Given the description of an element on the screen output the (x, y) to click on. 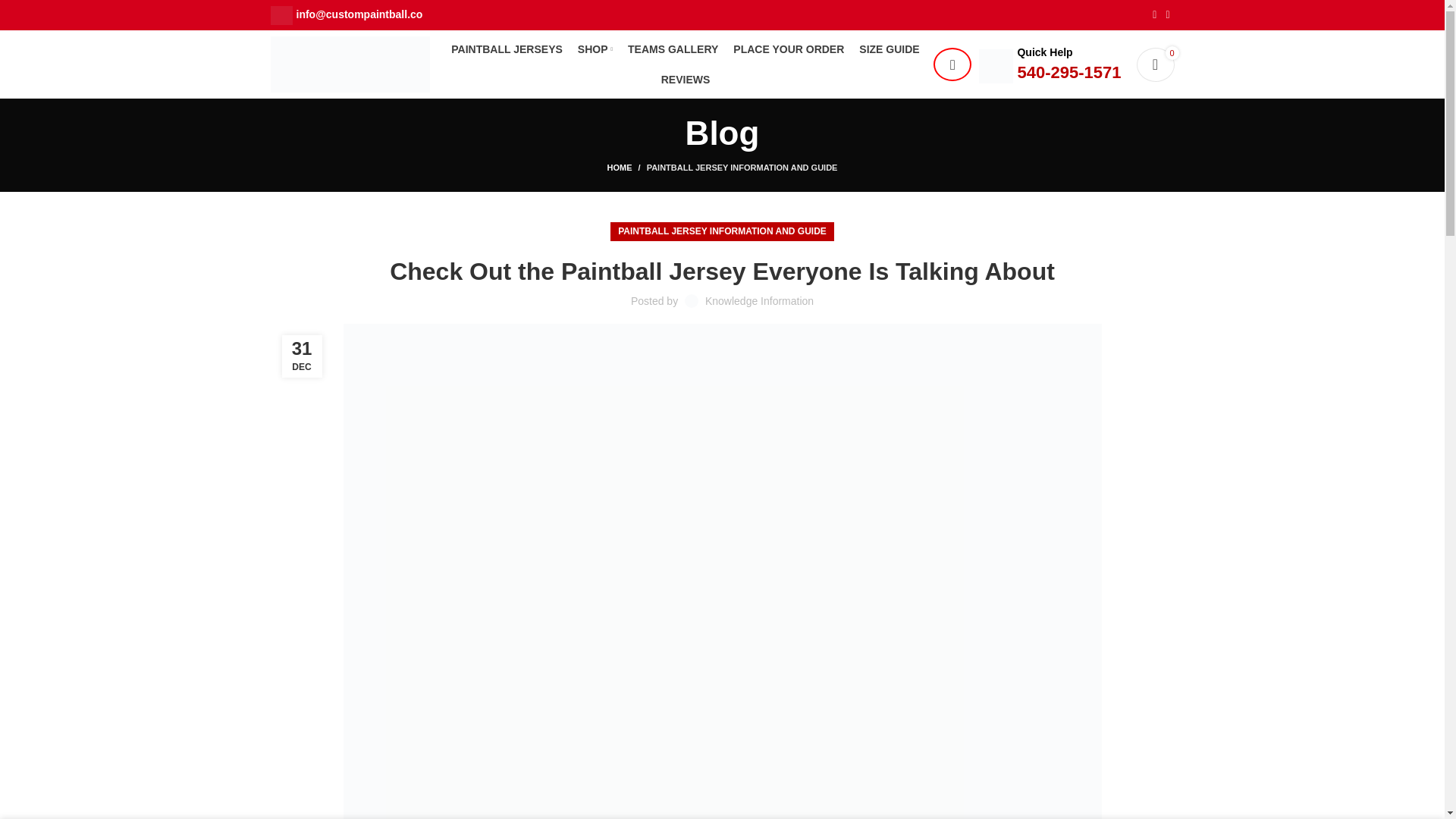
PLACE YOUR ORDER (788, 49)
SIZE GUIDE (888, 49)
Shopping cart (1154, 64)
mail (280, 15)
phone (995, 66)
Search (952, 64)
REVIEWS (685, 79)
PAINTBALL JERSEYS (507, 49)
SHOP (595, 49)
TEAMS GALLERY (672, 49)
